Given the description of an element on the screen output the (x, y) to click on. 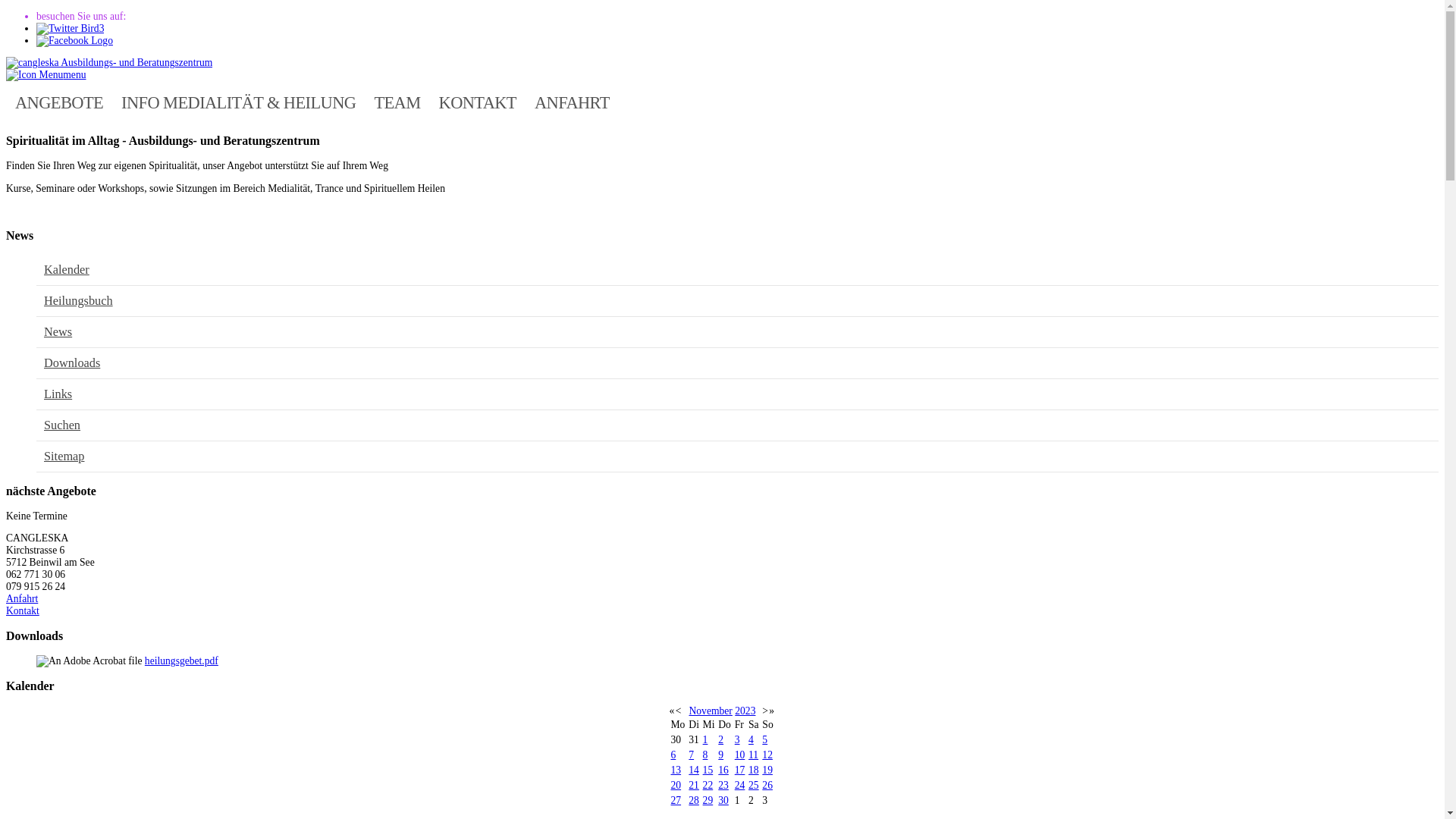
23 Element type: text (723, 784)
25 Element type: text (753, 784)
LogoCangleska Cl Tl2 Element type: hover (109, 62)
30 Element type: text (723, 800)
News Element type: text (57, 331)
Downloads Element type: text (71, 362)
13 Element type: text (675, 769)
3 Element type: text (737, 739)
heilungsgebet.pdf Element type: text (181, 660)
26 Element type: text (767, 784)
15 Element type: text (707, 769)
4 Element type: text (750, 739)
ANGEBOTE Element type: text (59, 101)
Kalender Element type: text (66, 269)
19 Element type: text (767, 769)
12 Element type: text (767, 754)
Sitemap Element type: text (63, 455)
17 Element type: text (739, 769)
29 Element type: text (707, 800)
28 Element type: text (693, 800)
14 Element type: text (693, 769)
ANFAHRT Element type: text (571, 101)
Suchen Element type: text (61, 424)
November Element type: text (709, 710)
Facebook Element type: hover (74, 40)
11 Element type: text (753, 754)
Kontakt Element type: text (22, 610)
27 Element type: text (675, 800)
10 Element type: text (739, 754)
TEAM Element type: text (396, 101)
20 Element type: text (675, 784)
Twitter Element type: hover (69, 28)
2 Element type: text (720, 739)
21 Element type: text (693, 784)
menu Element type: text (45, 74)
2023 Element type: text (744, 710)
6 Element type: text (672, 754)
Anfahrt Element type: text (21, 598)
5 Element type: text (764, 739)
7 Element type: text (690, 754)
8 Element type: text (705, 754)
Links Element type: text (57, 393)
18 Element type: text (753, 769)
16 Element type: text (723, 769)
24 Element type: text (739, 784)
9 Element type: text (720, 754)
1 Element type: text (705, 739)
KONTAKT Element type: text (477, 101)
22 Element type: text (707, 784)
Heilungsbuch Element type: text (77, 300)
